Given the description of an element on the screen output the (x, y) to click on. 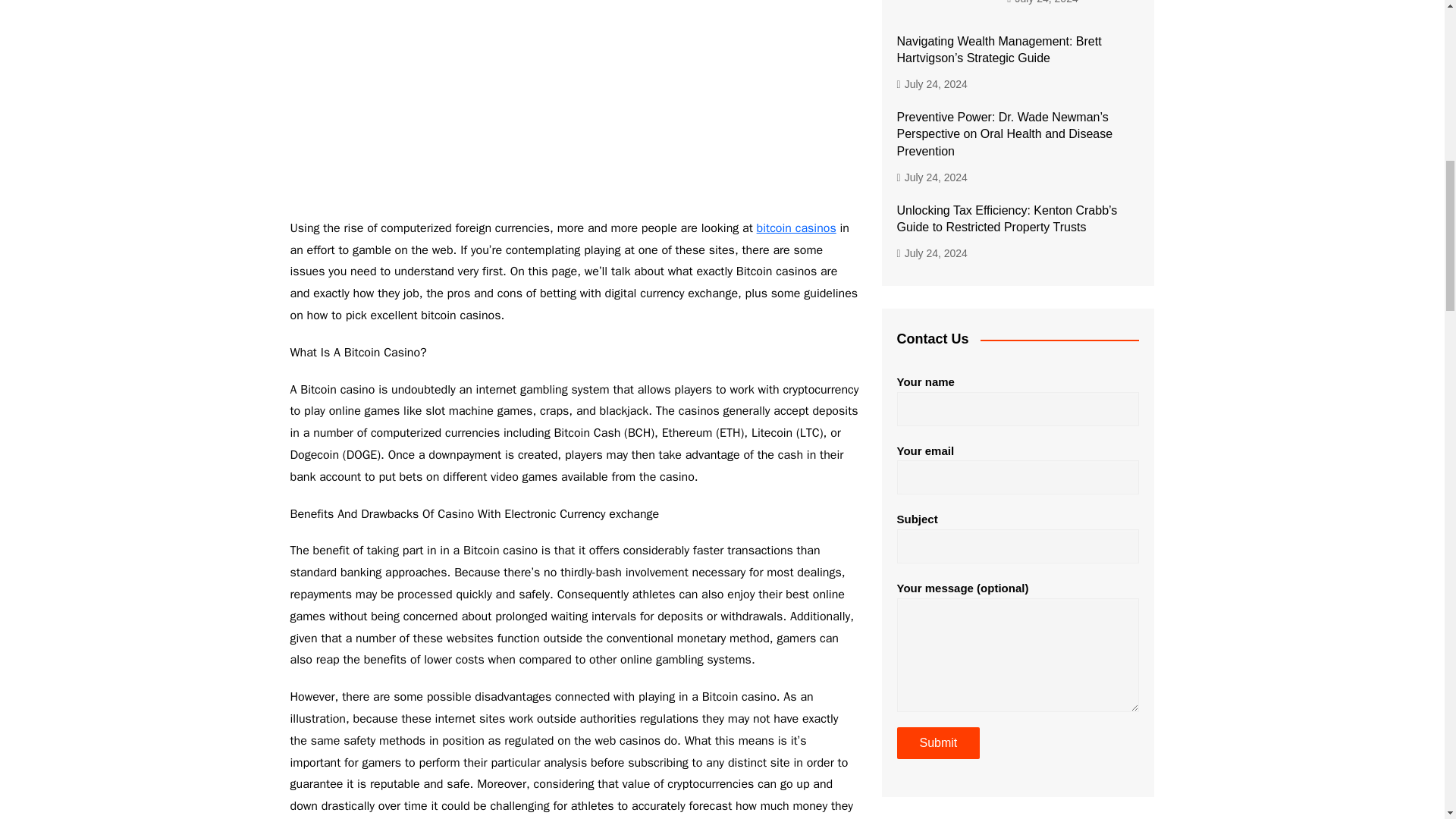
Submit (937, 743)
bitcoin casinos (796, 227)
